Given the description of an element on the screen output the (x, y) to click on. 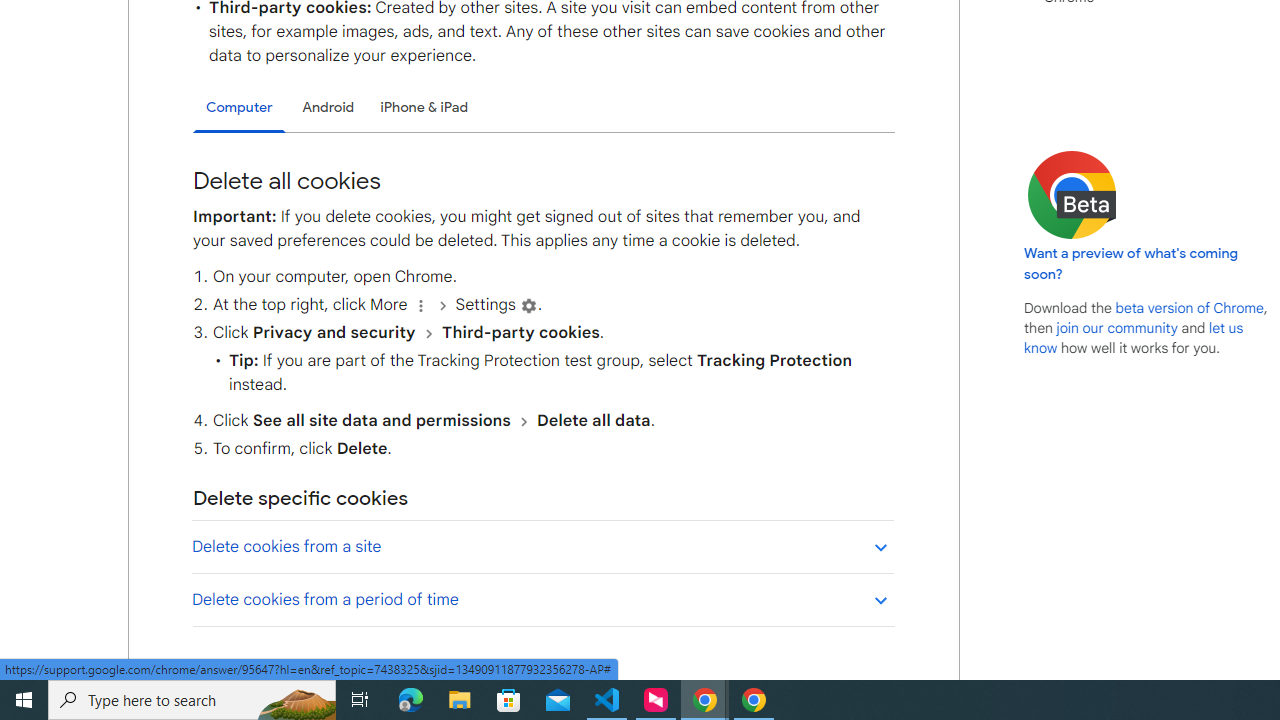
let us know (1134, 337)
Settings (528, 305)
join our community (1116, 327)
iPhone & iPad (424, 107)
Chrome Beta logo (1072, 194)
Android (328, 107)
More (420, 305)
Delete cookies from a site (542, 546)
beta version of Chrome (1189, 307)
Computer (239, 108)
and then (523, 421)
Want a preview of what's coming soon? (1131, 263)
Delete cookies from a period of time (542, 599)
